Given the description of an element on the screen output the (x, y) to click on. 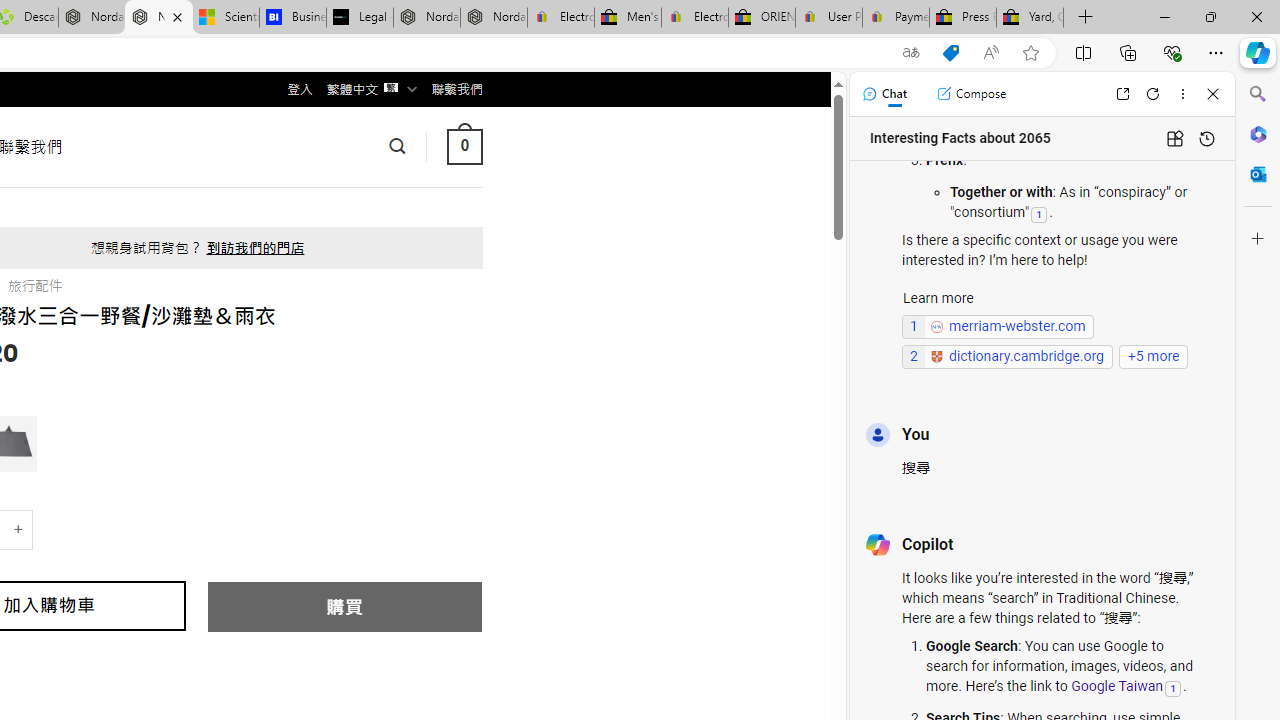
Yard, Garden & Outdoor Living (1030, 17)
Compose (971, 93)
Show translate options (910, 53)
